Given the description of an element on the screen output the (x, y) to click on. 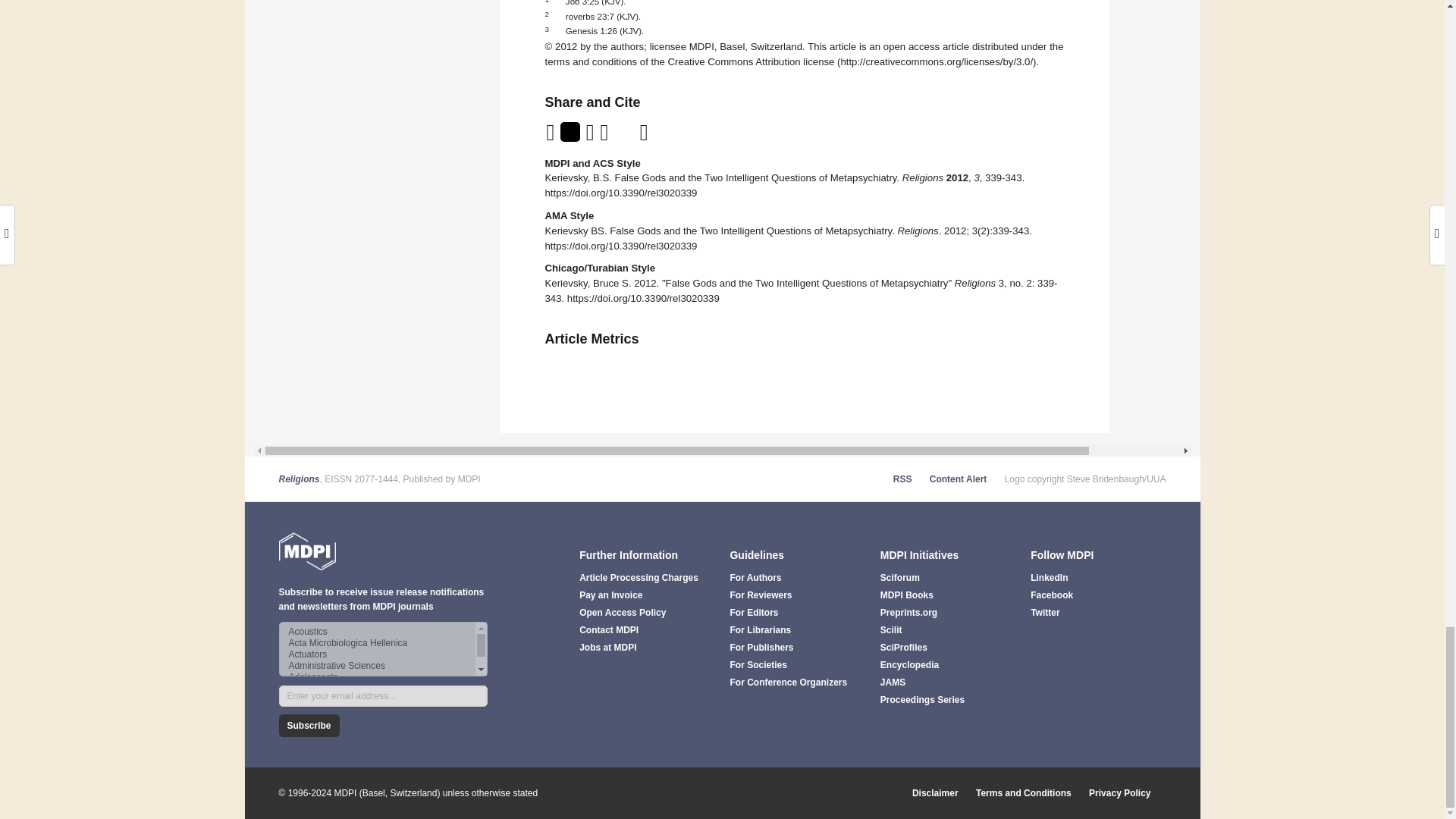
LinkedIn (591, 136)
Email (551, 136)
facebook (605, 136)
Mendeley (662, 136)
Wechat (625, 136)
Reddit (645, 136)
